Given the description of an element on the screen output the (x, y) to click on. 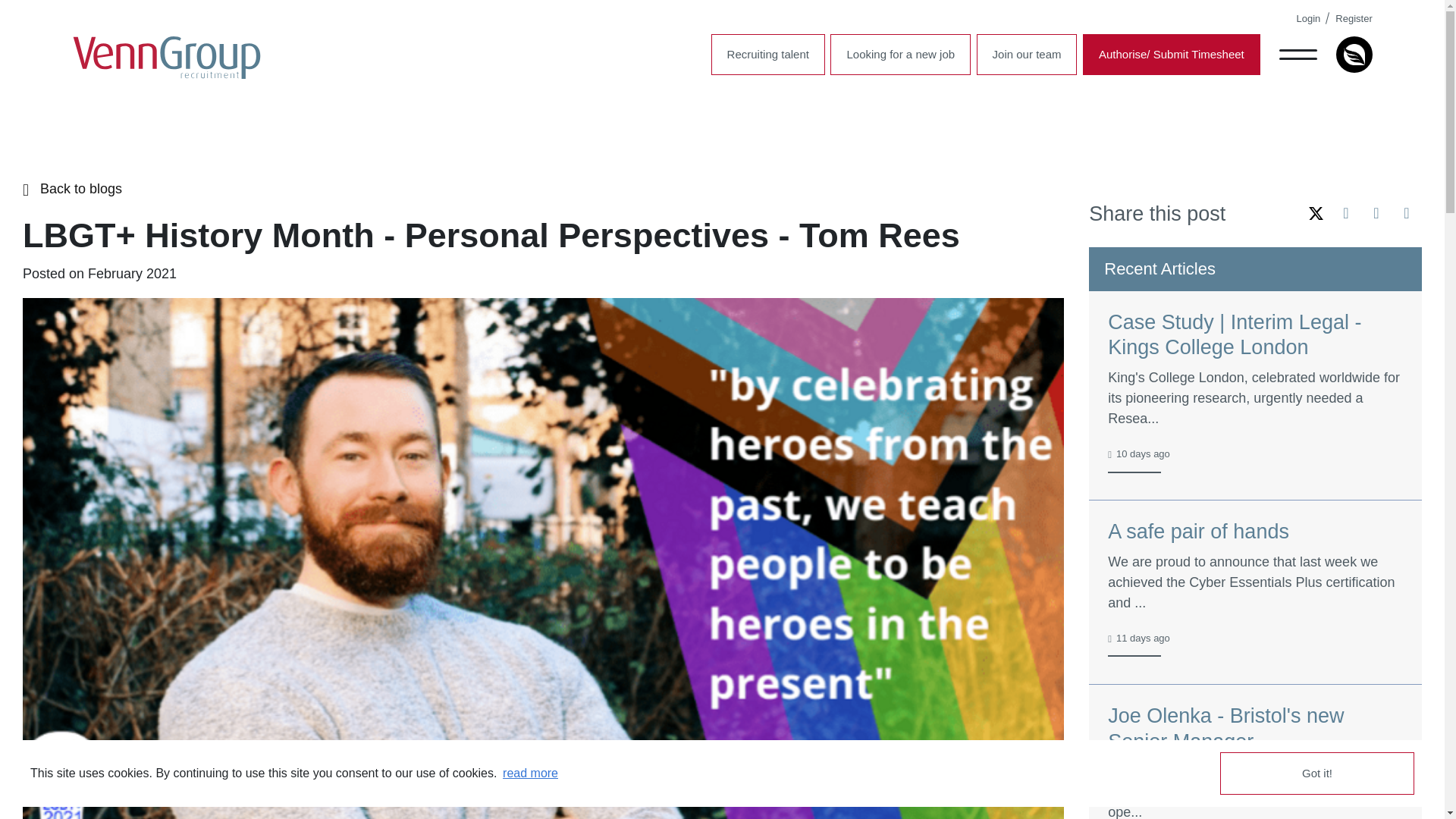
Register (1353, 18)
Recruiting talent (768, 55)
Venn Group (166, 58)
Join our team (1026, 55)
Got it! (1316, 773)
Looking for a new job (900, 55)
read more (530, 773)
Login (1308, 18)
Go to the Homepage (166, 58)
